Given the description of an element on the screen output the (x, y) to click on. 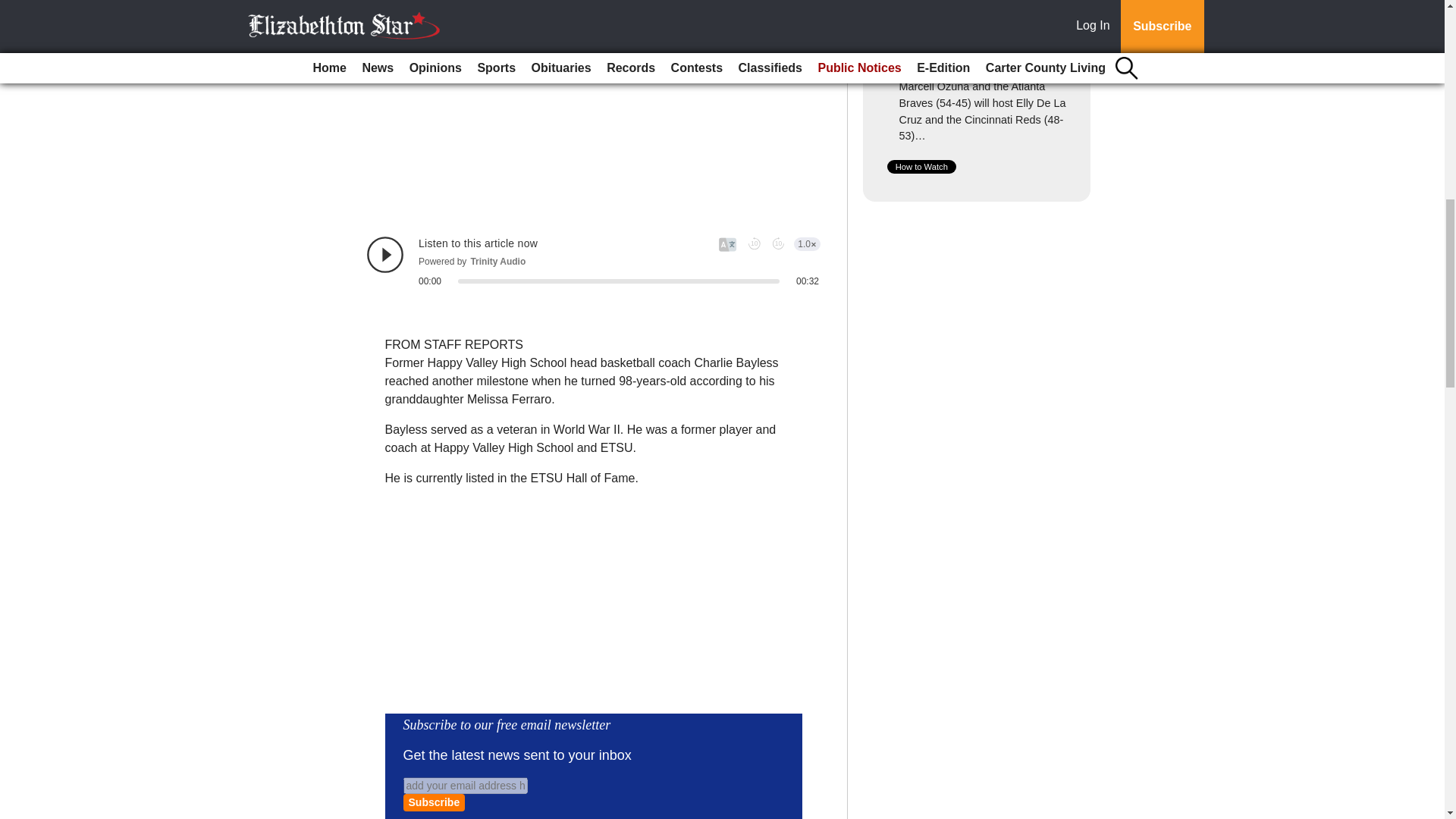
How to Watch (921, 166)
Braves vs. Reds: Betting Preview for July 24 (962, 59)
Trinity Audio Player (592, 261)
Subscribe (434, 802)
Subscribe (434, 802)
